Given the description of an element on the screen output the (x, y) to click on. 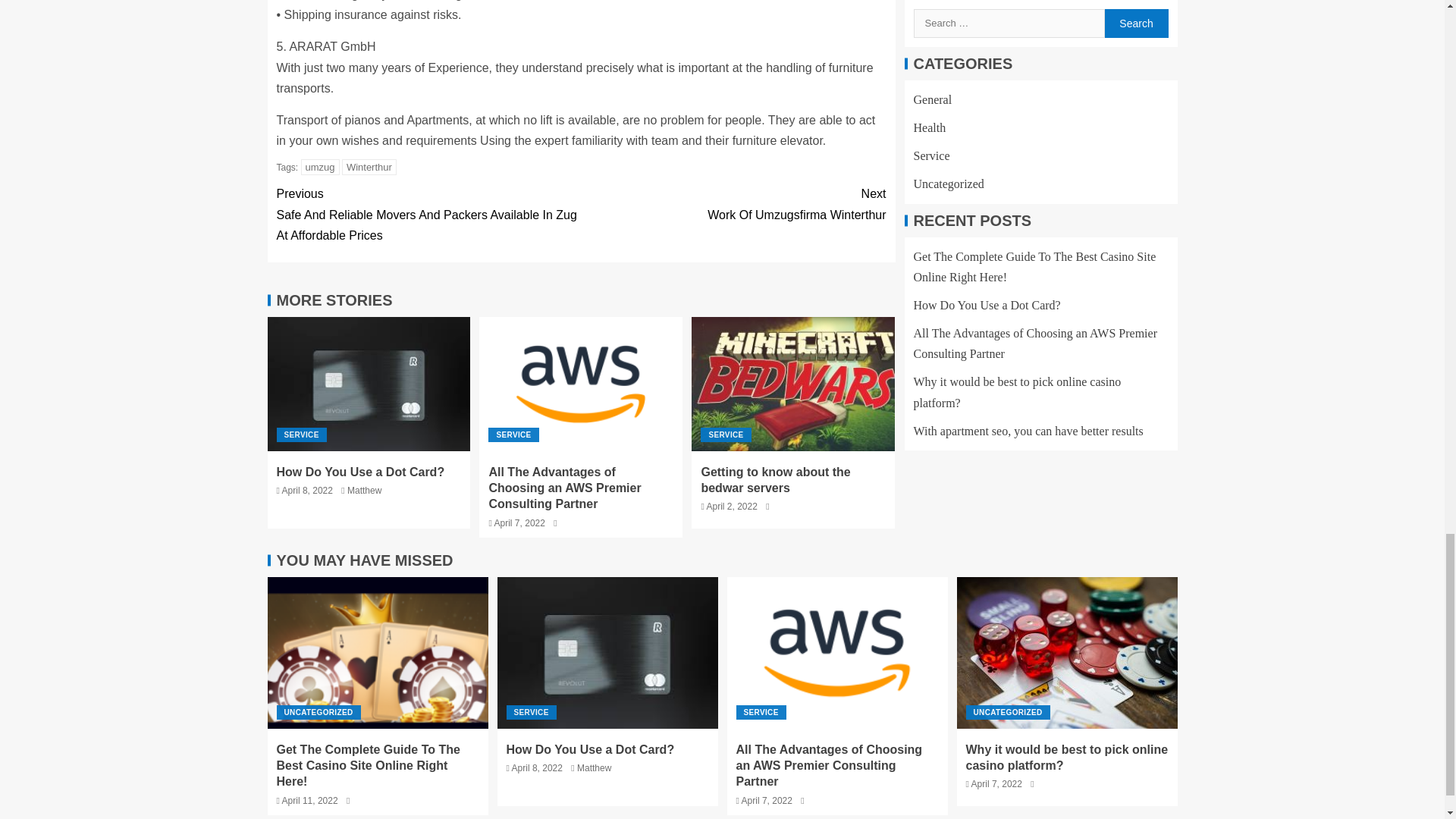
Winterthur (369, 166)
umzug (320, 166)
Getting to know about the bedwar servers (775, 480)
SERVICE (512, 434)
How Do You Use a Dot Card? (360, 472)
SERVICE (301, 434)
Matthew (364, 490)
SERVICE (725, 434)
